Given the description of an element on the screen output the (x, y) to click on. 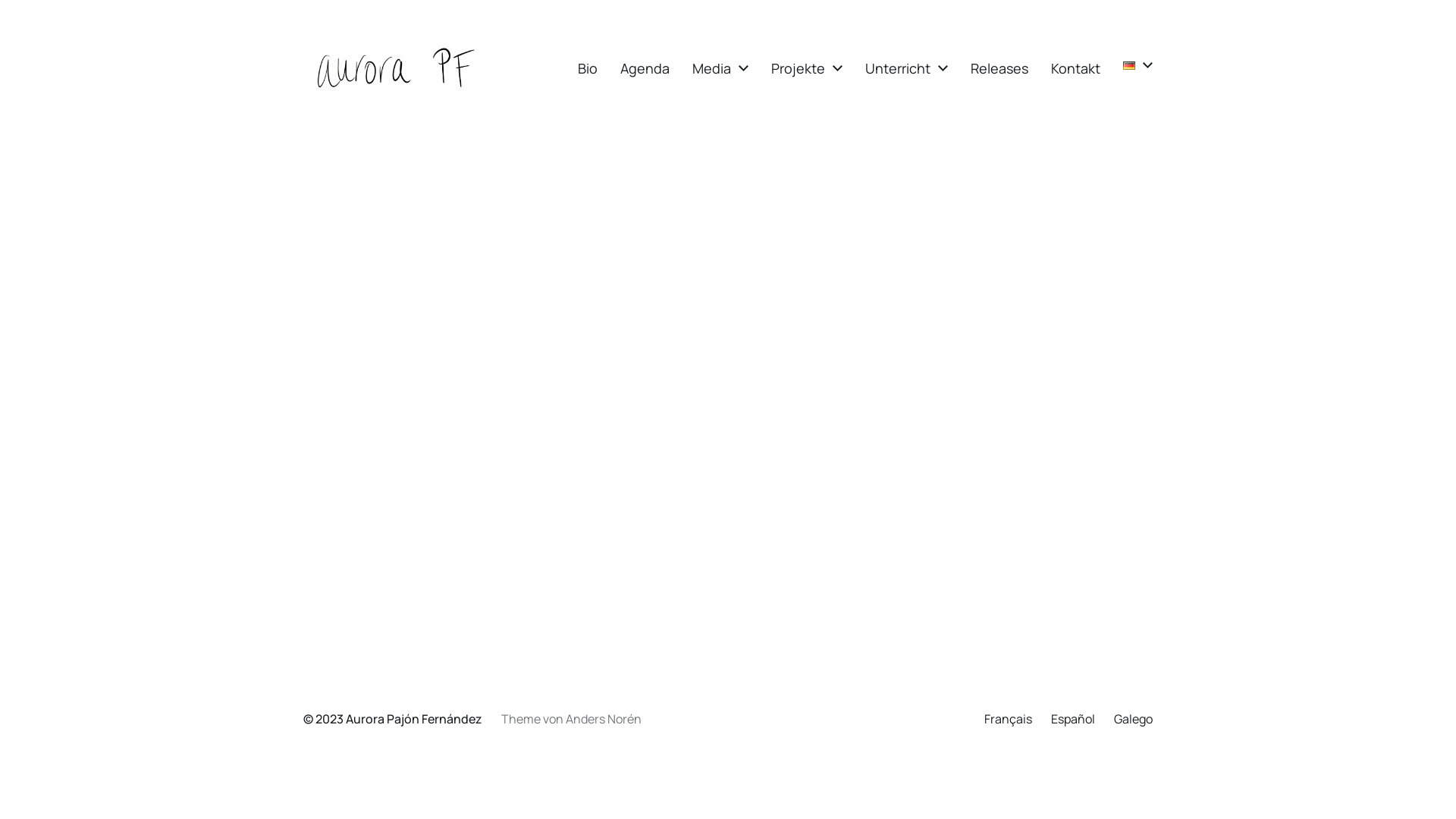
Releases Element type: text (999, 68)
Projekte Element type: text (798, 68)
Agenda Element type: text (644, 68)
Media Element type: text (711, 68)
Galego Element type: text (1132, 718)
Unterricht Element type: text (897, 68)
Bio Element type: text (587, 68)
Kontakt Element type: text (1075, 68)
